Given the description of an element on the screen output the (x, y) to click on. 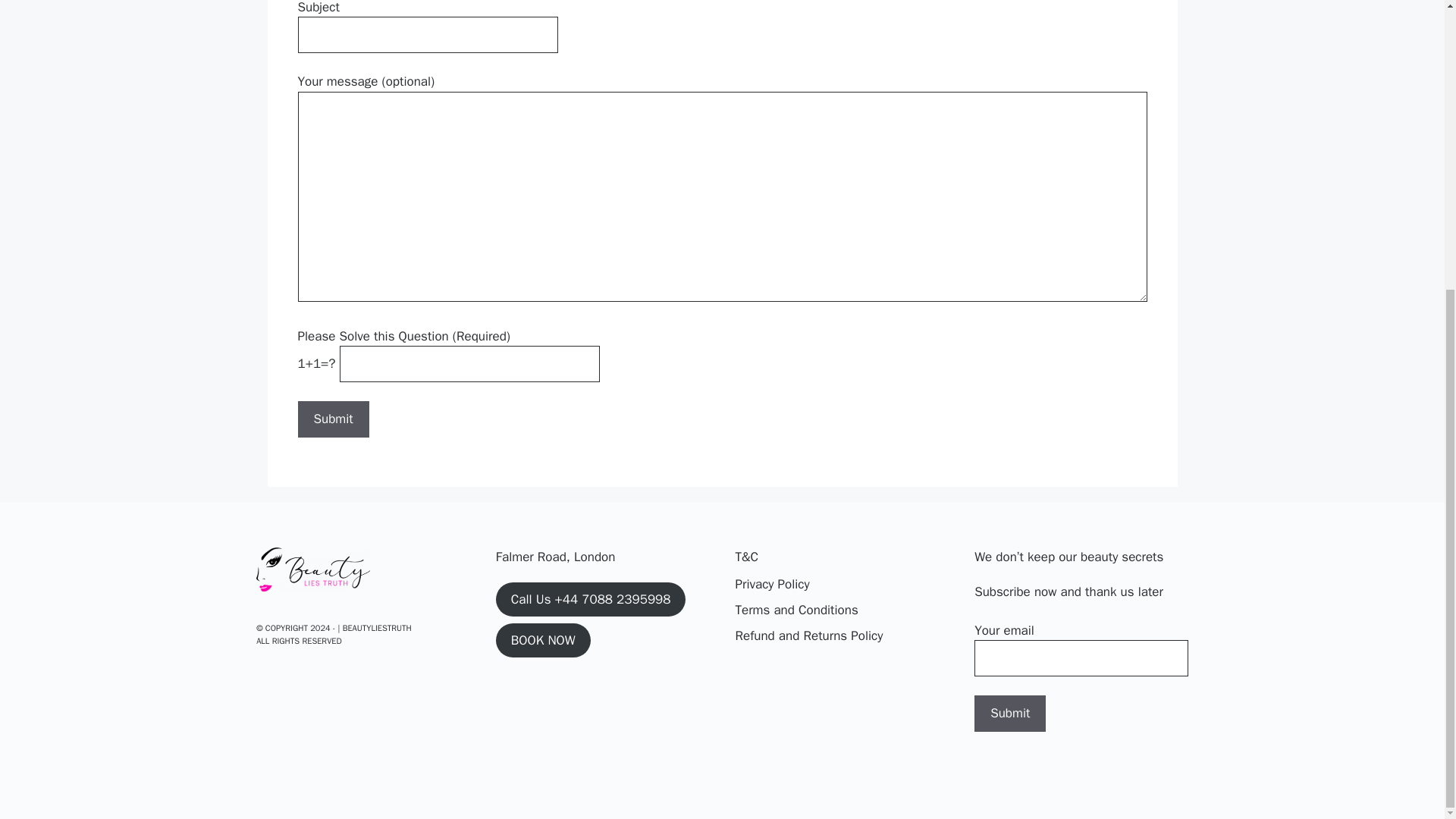
BOOK NOW (543, 640)
Submit (1009, 713)
Submit (332, 419)
Submit (1009, 713)
logo-BLT (312, 569)
Submit (332, 419)
Privacy Policy (772, 584)
Refund and Returns Policy (808, 636)
Terms and Conditions (796, 609)
